Given the description of an element on the screen output the (x, y) to click on. 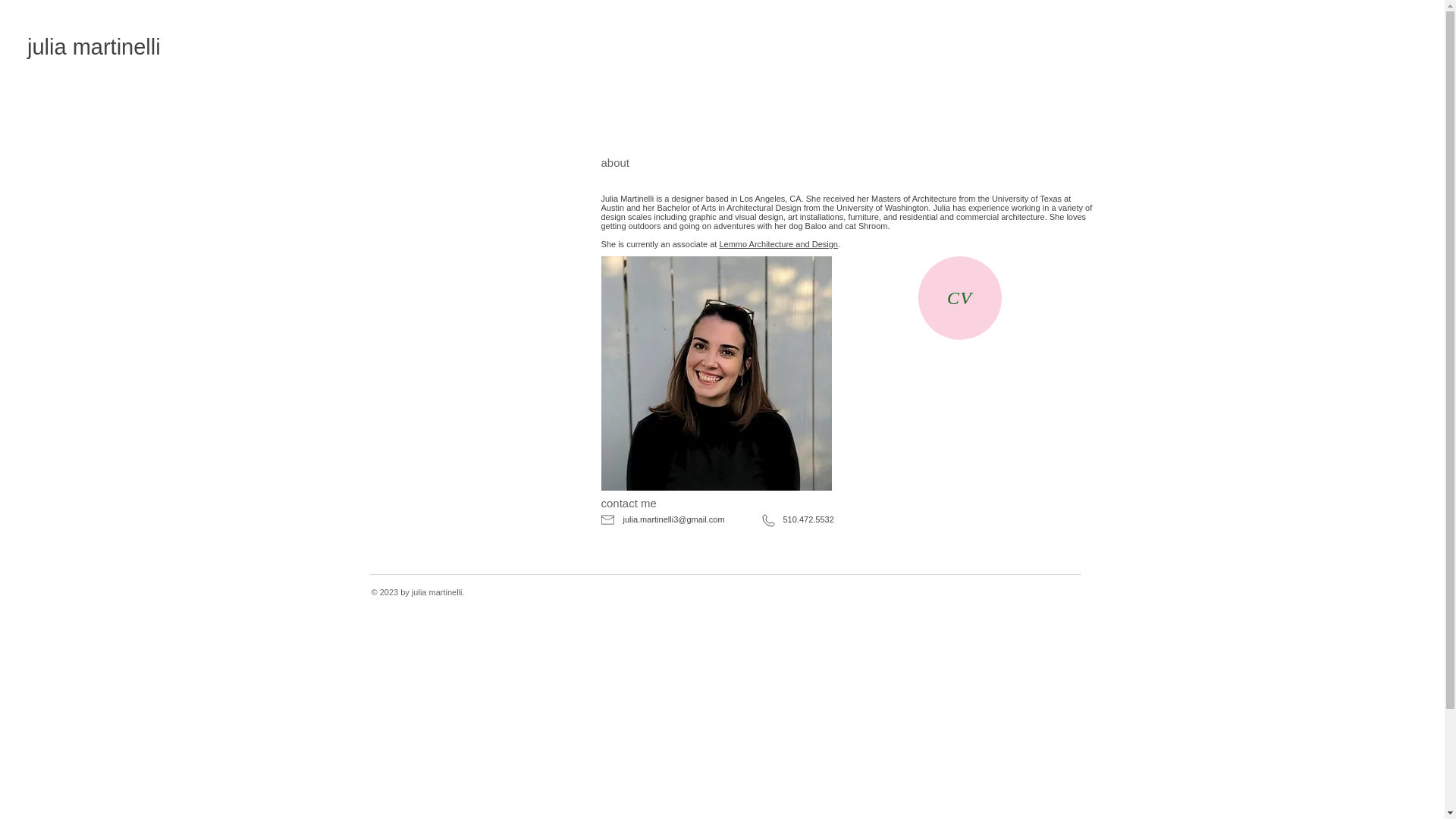
Lemmo Architecture and Design (778, 243)
CV (959, 297)
julia martinelli (93, 46)
